Given the description of an element on the screen output the (x, y) to click on. 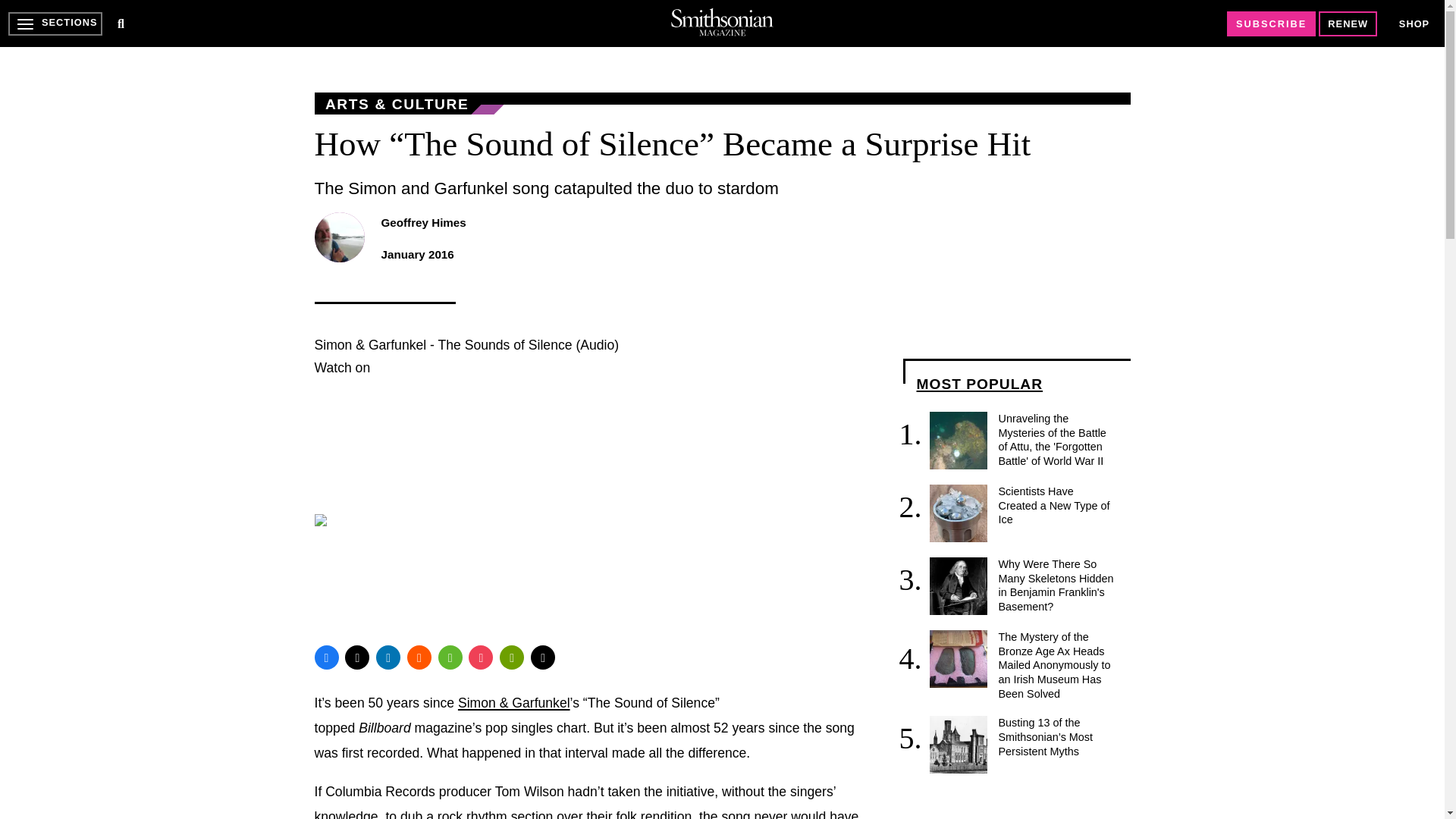
Reddit (418, 657)
SECTIONS (55, 23)
Twitter (357, 657)
WhatsApp (450, 657)
Facebook (325, 657)
RENEW (1348, 23)
Email (542, 657)
SUBSCRIBE (1271, 23)
Print (511, 657)
Pocket (480, 657)
